Given the description of an element on the screen output the (x, y) to click on. 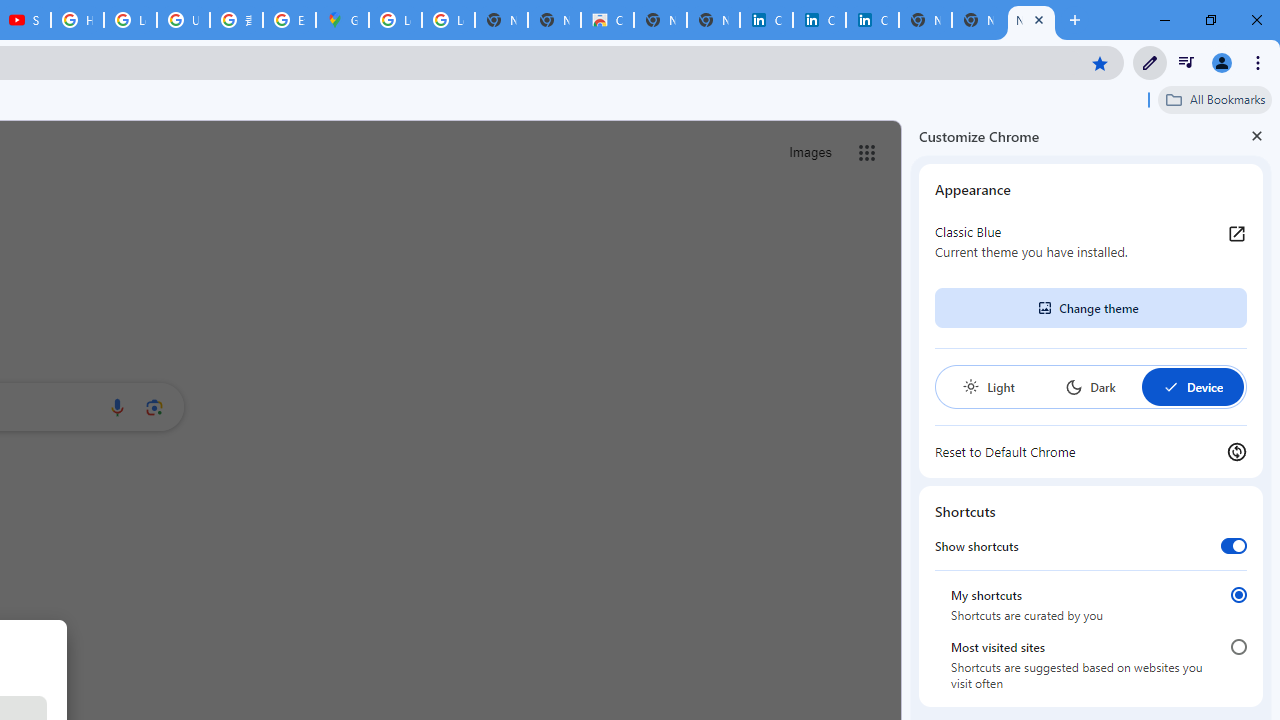
Explore new street-level details - Google Maps Help (289, 20)
Copyright Policy (872, 20)
Device (1192, 386)
Chrome Web Store (607, 20)
New Tab (1031, 20)
Most visited sites (1238, 647)
AutomationID: baseSvg (1170, 386)
Reset to Default Chrome (1091, 452)
